Given the description of an element on the screen output the (x, y) to click on. 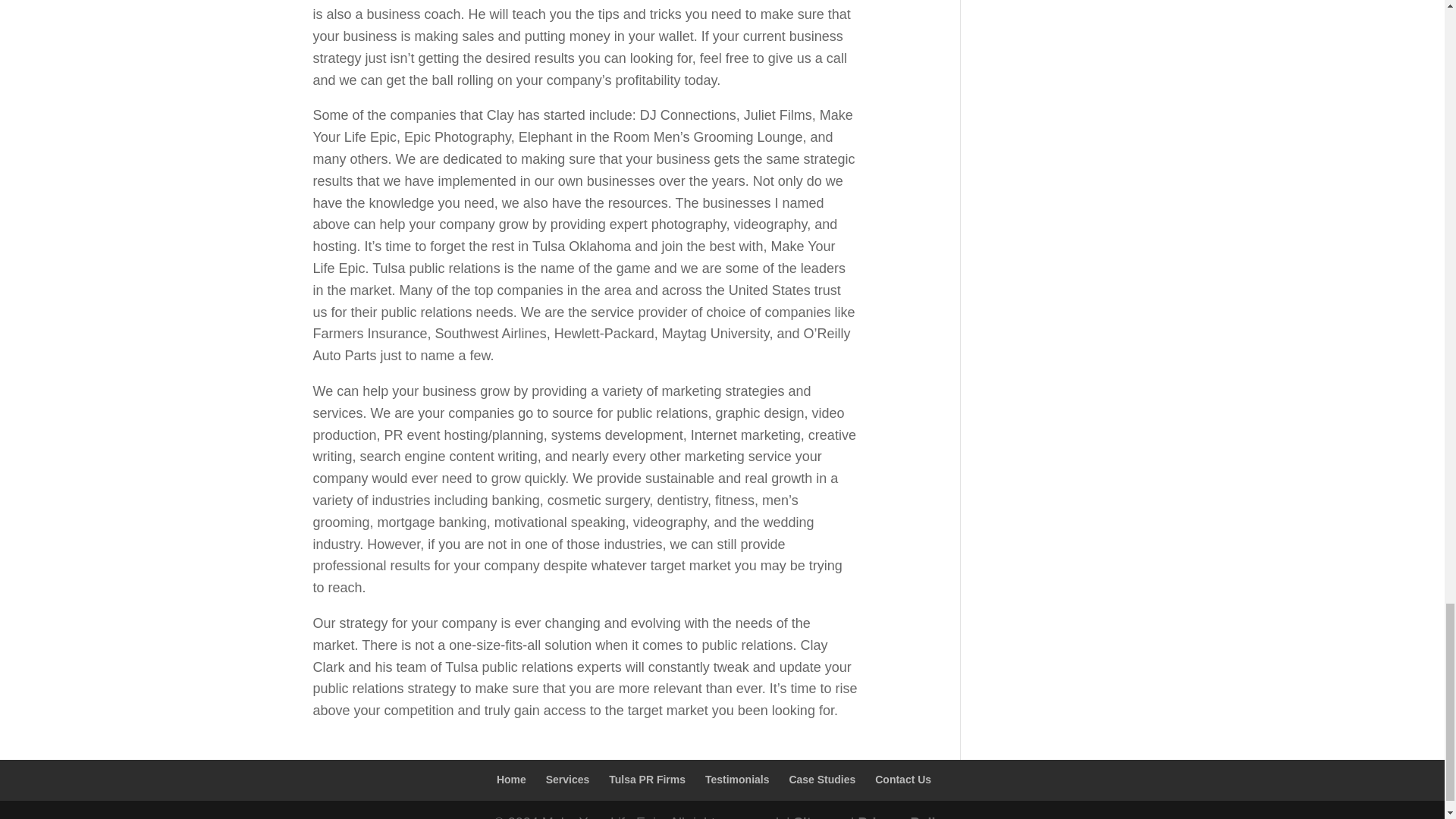
Case Studies (822, 779)
Tulsa PR Firms (646, 779)
Home (510, 779)
Sitemap (820, 816)
Contact Us (903, 779)
Privacy Policy (903, 816)
Services (567, 779)
Testimonials (737, 779)
